Given the description of an element on the screen output the (x, y) to click on. 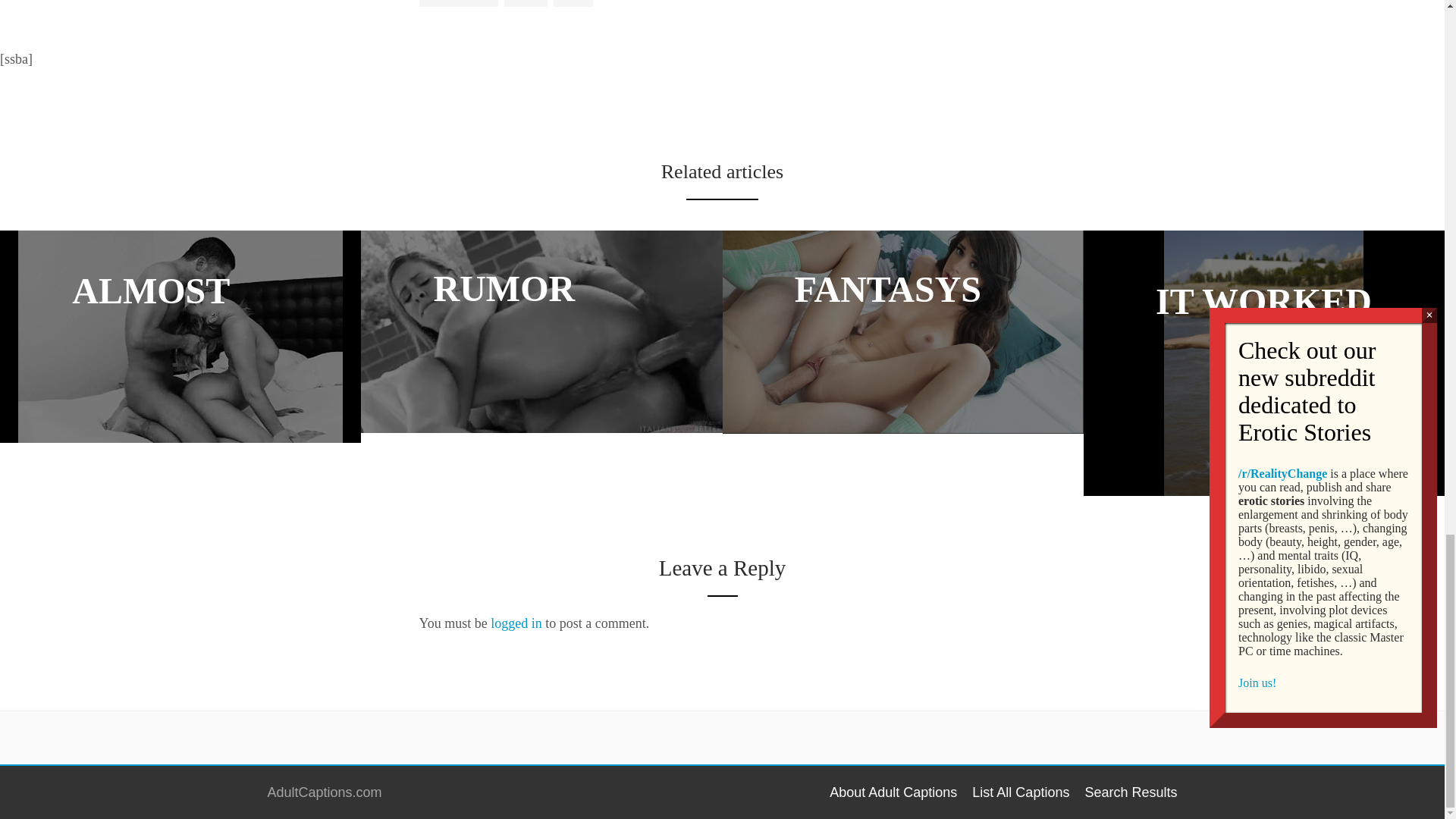
ALMOST (180, 336)
Stuck (573, 3)
RUMOR (541, 331)
FANTASYS (902, 332)
logged in (515, 622)
Search Results (1130, 792)
Magic (525, 3)
List All Captions (1020, 792)
About Adult Captions (892, 792)
